Given the description of an element on the screen output the (x, y) to click on. 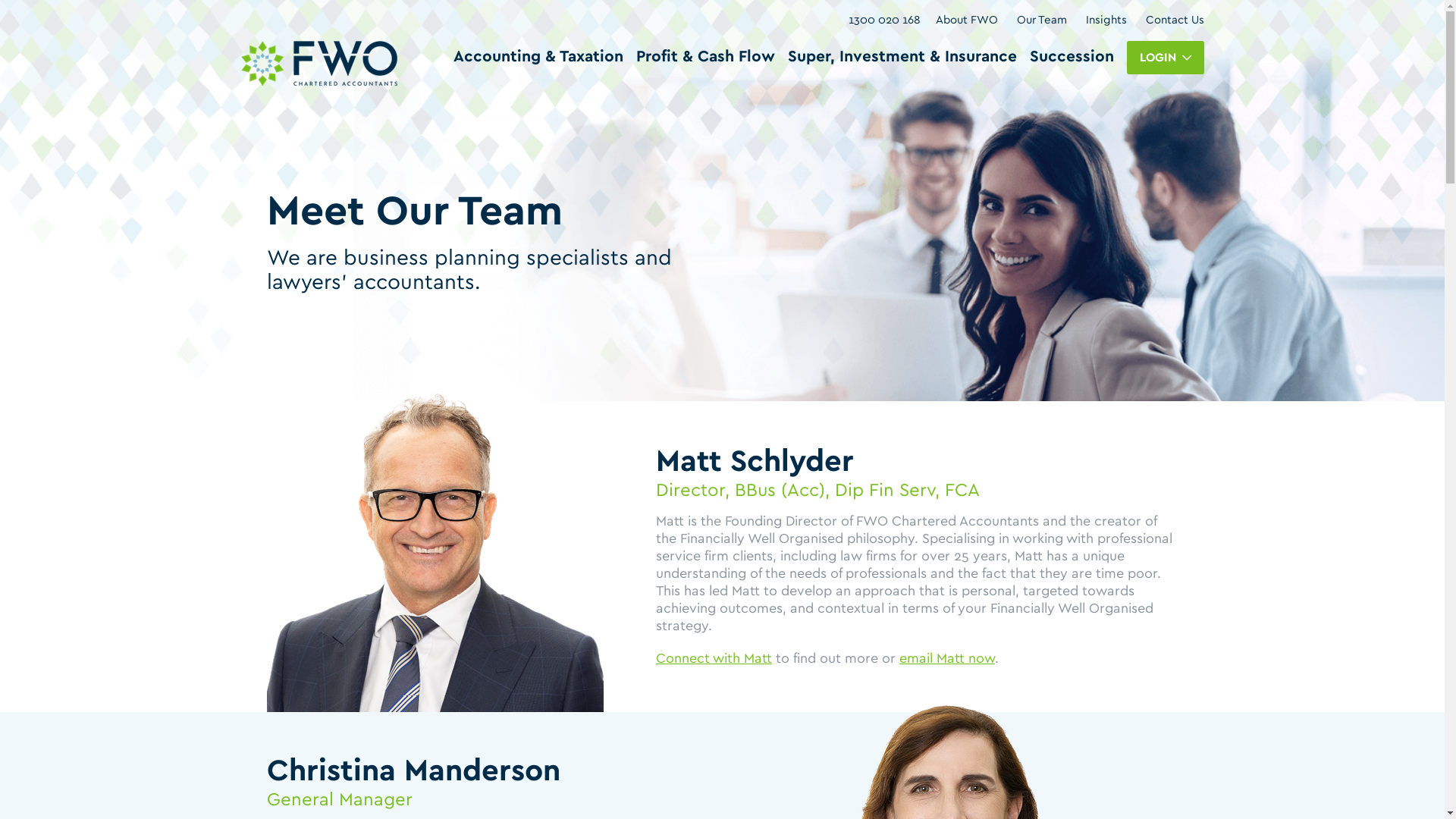
Accounting & Taxation Element type: text (538, 56)
Connect with Matt Element type: text (713, 658)
About FWO Element type: text (966, 19)
Our Team Element type: text (1041, 19)
Succession Element type: text (1071, 56)
Profit & Cash Flow Element type: text (704, 56)
LOGIN Element type: text (1165, 57)
Super, Investment & Insurance Element type: text (901, 56)
1300 020 168 Element type: text (883, 19)
Insights Element type: text (1105, 19)
Contact Us Element type: text (1174, 19)
email Matt now Element type: text (946, 658)
